Given the description of an element on the screen output the (x, y) to click on. 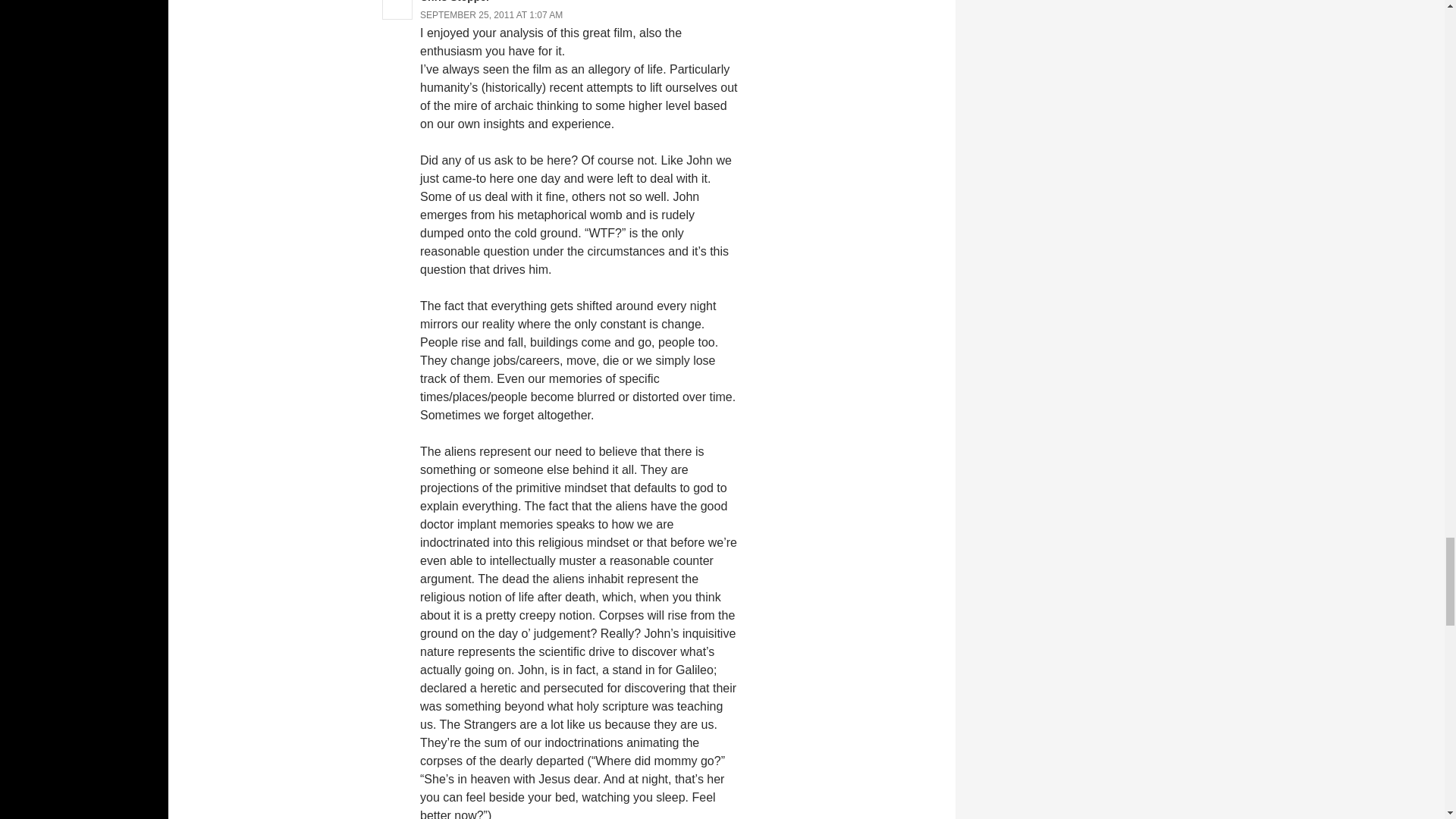
Chris Stopper (455, 1)
